Given the description of an element on the screen output the (x, y) to click on. 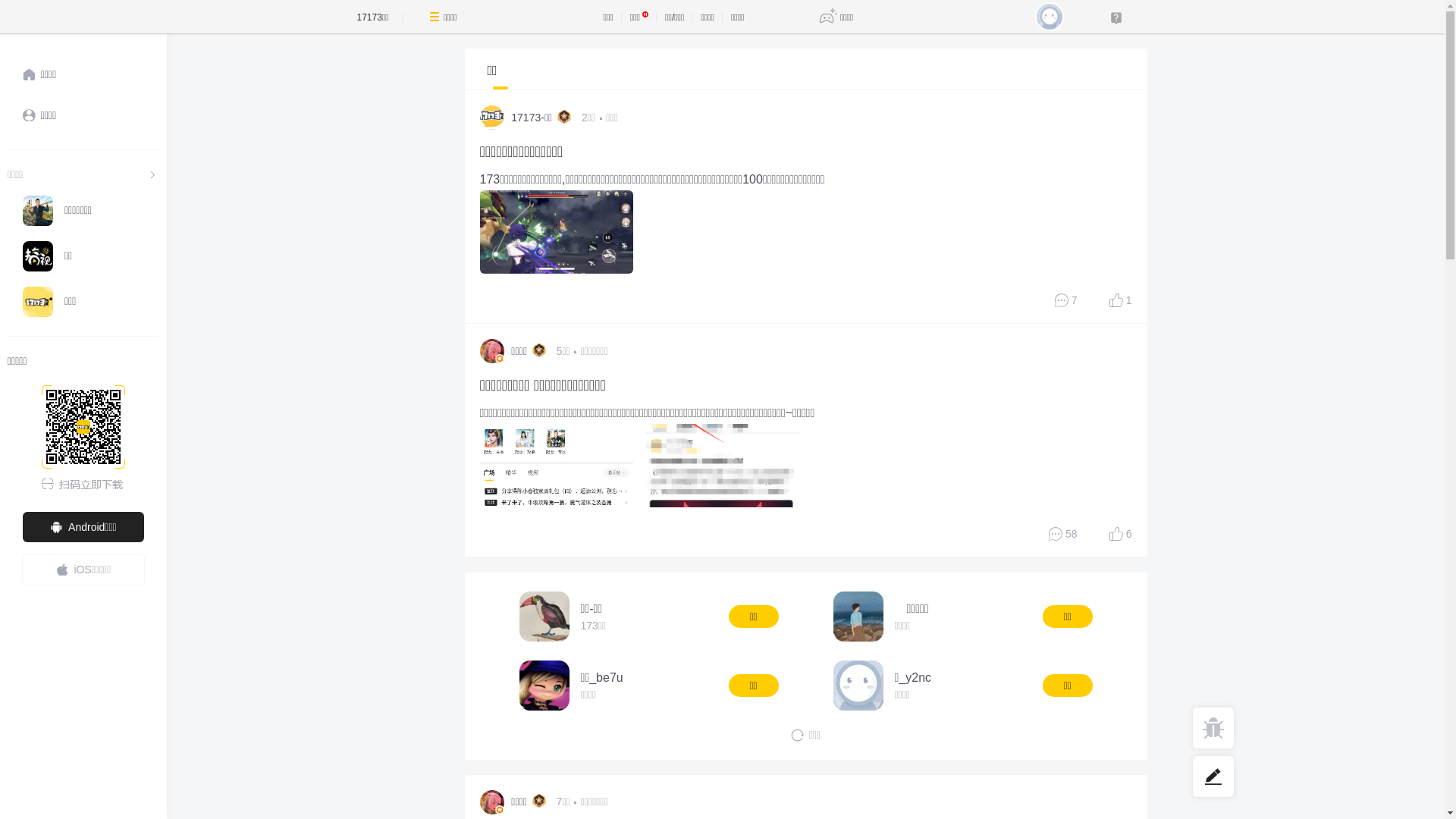
58 Element type: text (1062, 533)
7 Element type: text (1065, 299)
